Given the description of an element on the screen output the (x, y) to click on. 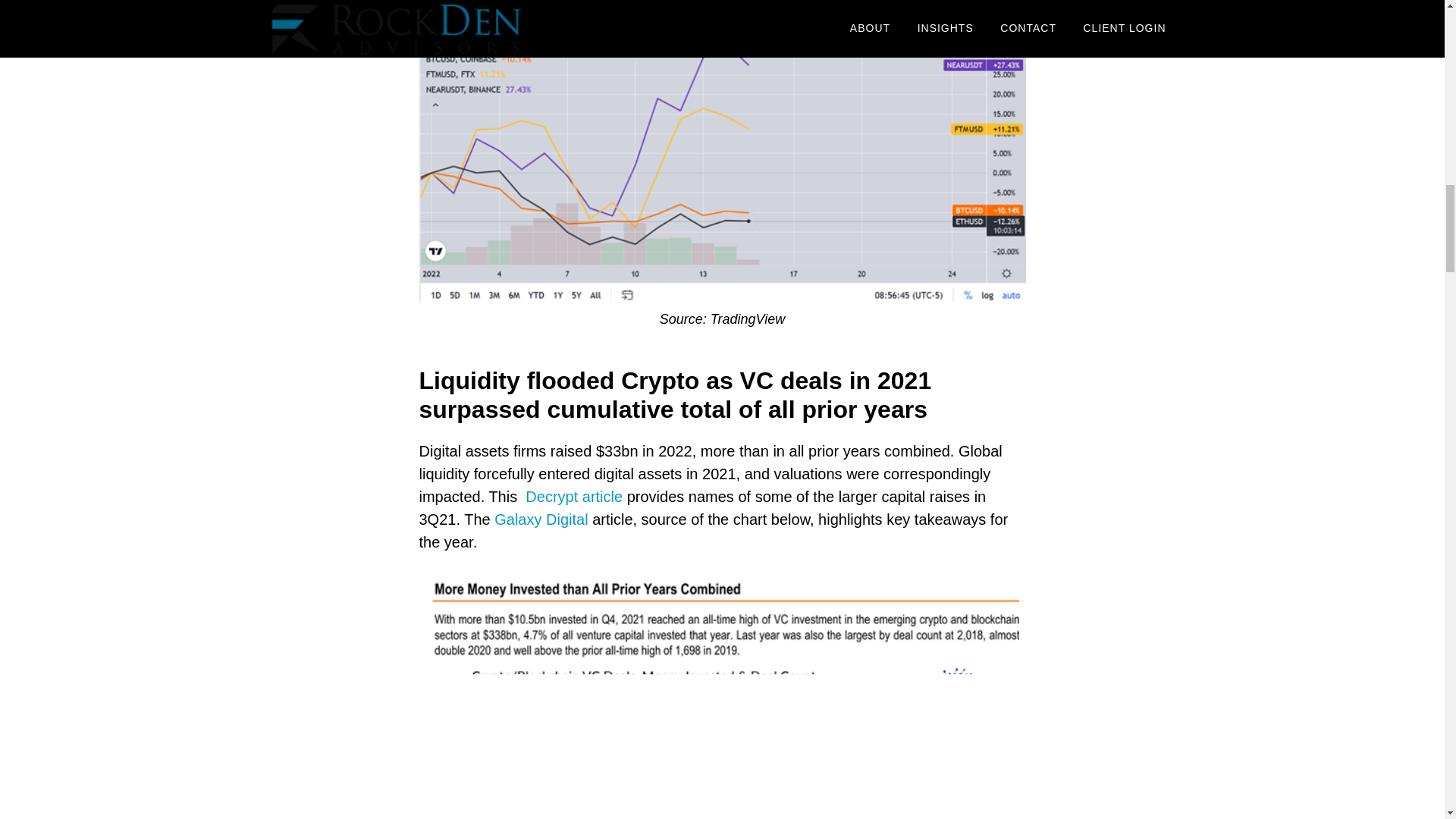
Decrypt article (574, 496)
Galaxy Digital (541, 519)
